Given the description of an element on the screen output the (x, y) to click on. 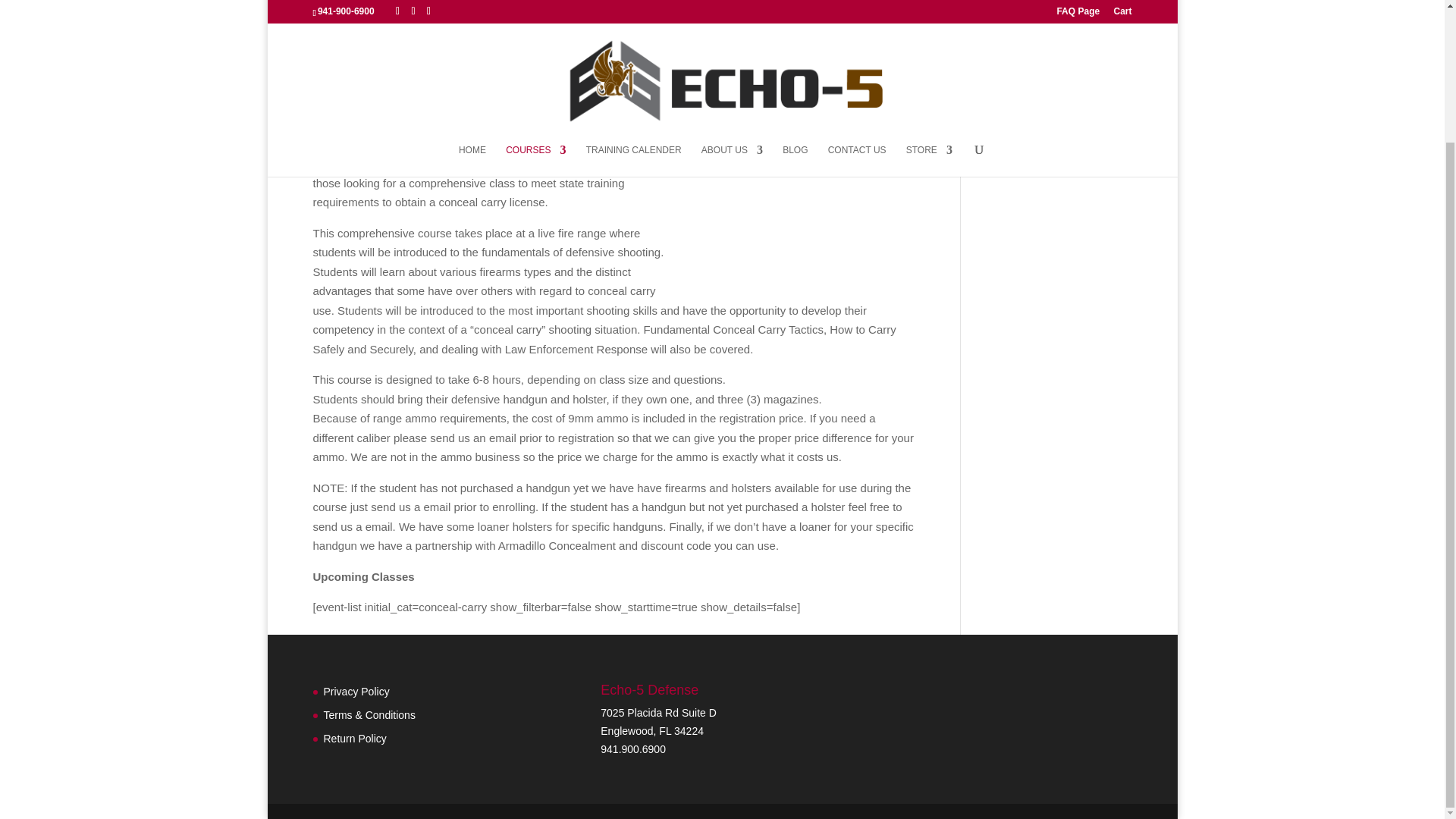
COURSES (535, 7)
CONTACT US (857, 7)
ABOUT US (731, 7)
HOME (472, 7)
STORE (928, 7)
BLOG (795, 7)
TRAINING CALENDER (633, 7)
